Given the description of an element on the screen output the (x, y) to click on. 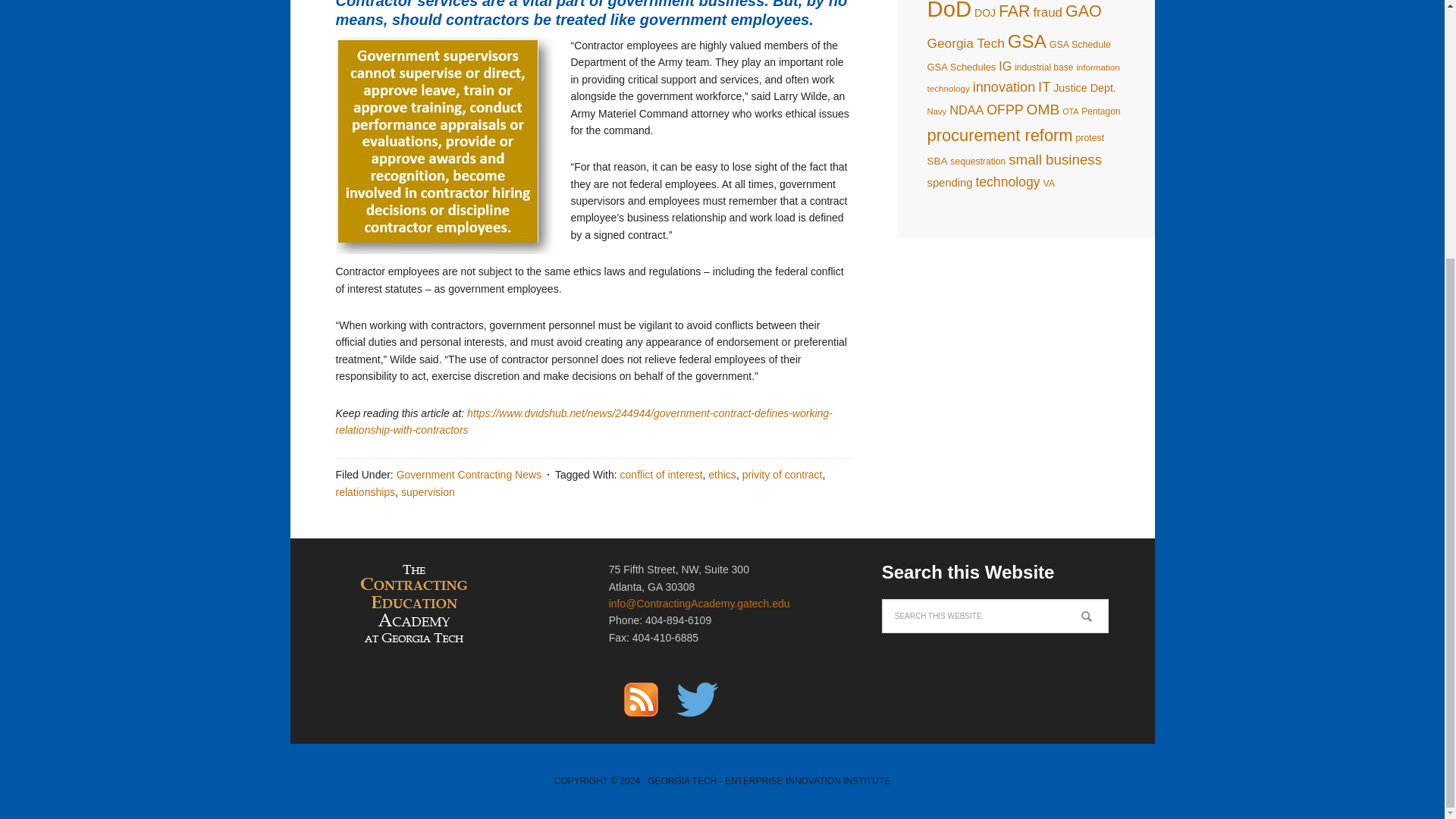
Georgia Tech (965, 43)
GSA Schedules (960, 66)
privity of contract (782, 474)
ethics (721, 474)
GSA (1026, 41)
DOJ (984, 12)
GAO (1083, 10)
GSA Schedule (1079, 44)
conflict of interest (661, 474)
